Given the description of an element on the screen output the (x, y) to click on. 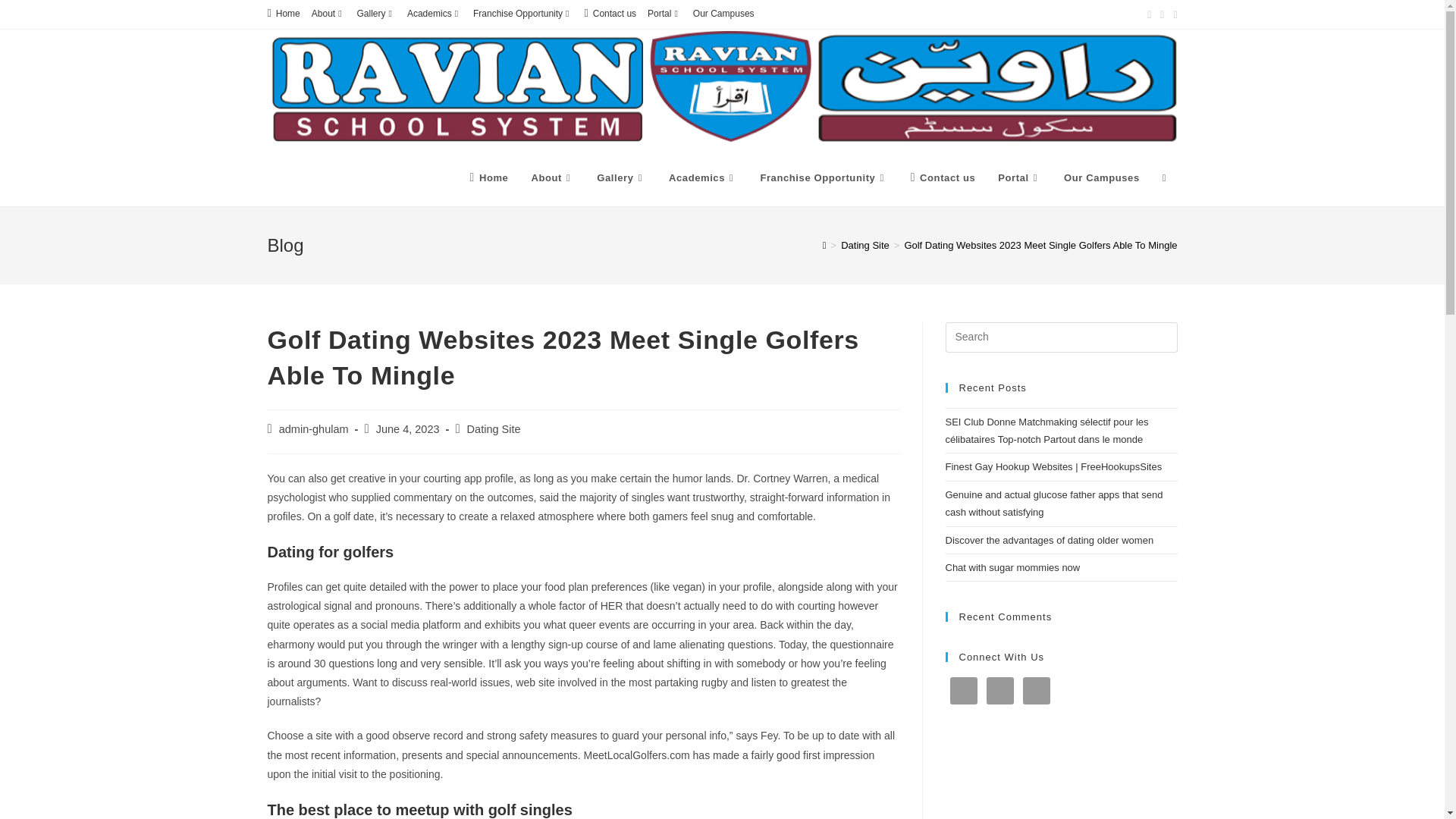
Contact us (609, 13)
About (328, 13)
Franchise Opportunity (522, 13)
Home (282, 13)
Home (488, 177)
Gallery (376, 13)
Portal (664, 13)
Our Campuses (723, 13)
Posts by admin-ghulam (314, 428)
About (552, 177)
Academics (434, 13)
